Given the description of an element on the screen output the (x, y) to click on. 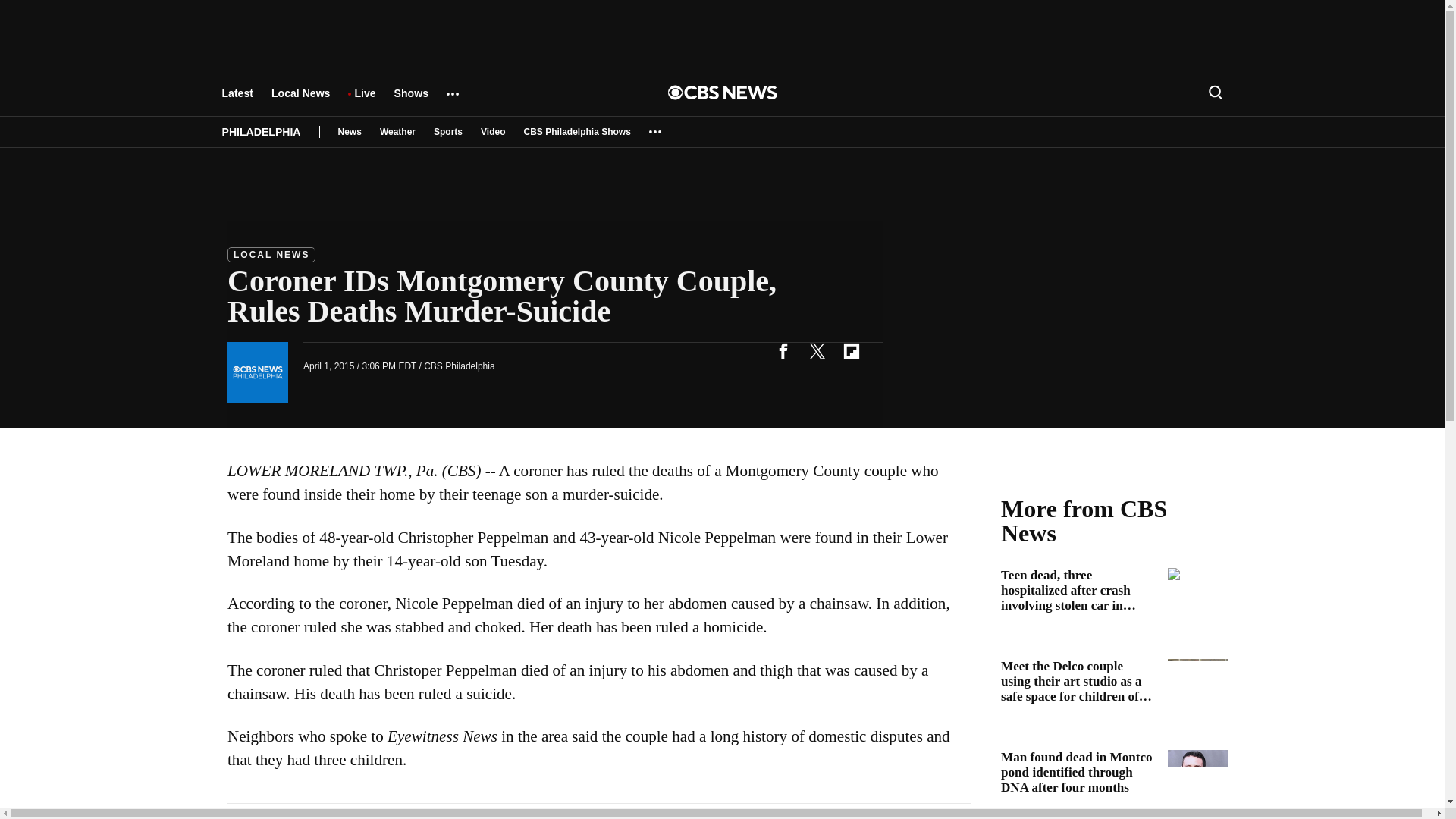
Latest (236, 100)
flipboard (850, 350)
facebook (782, 350)
Local News (300, 100)
twitter (816, 350)
